Given the description of an element on the screen output the (x, y) to click on. 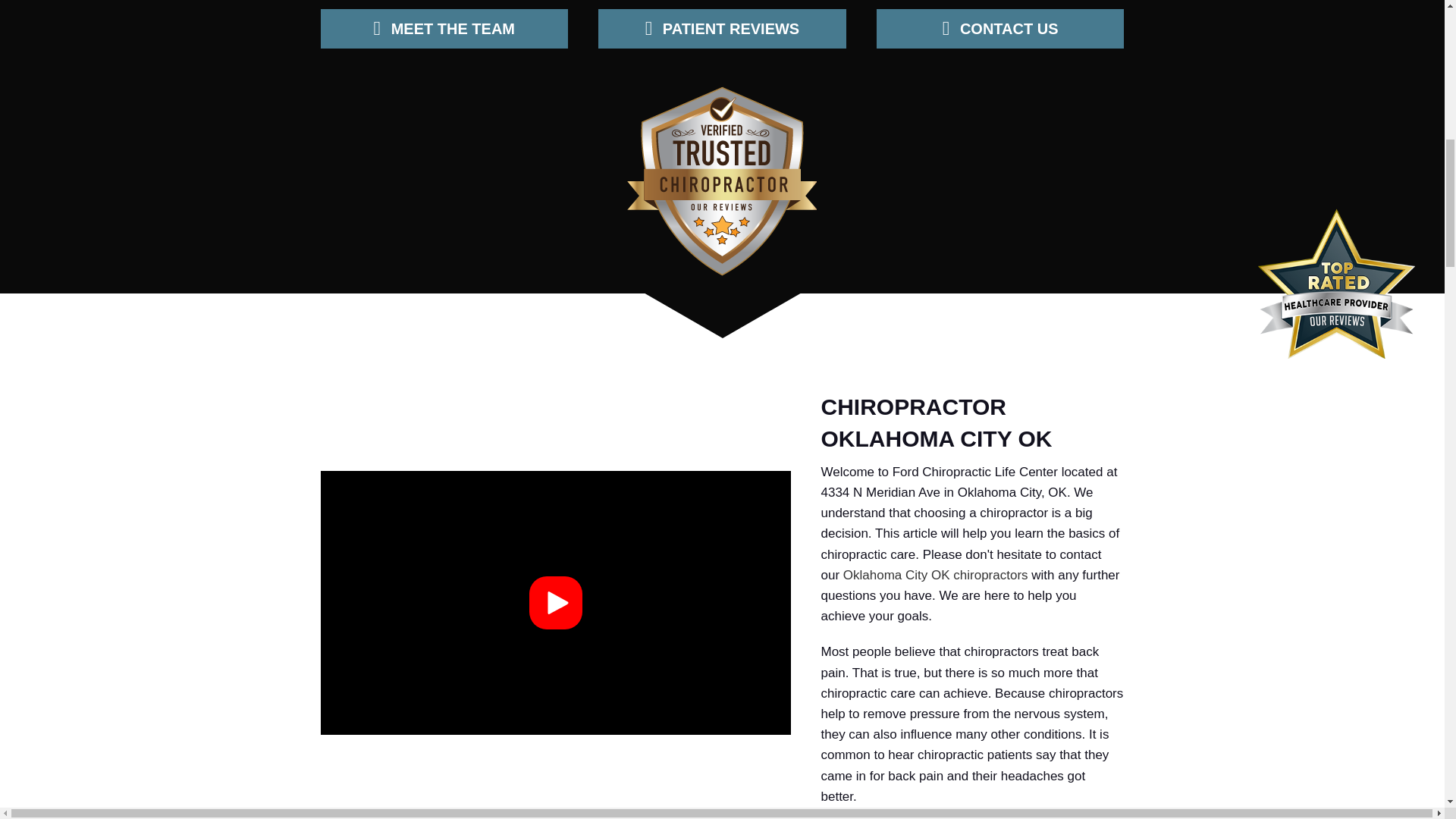
Click Here (443, 28)
Click Here (1000, 28)
Click Here (721, 28)
